Given the description of an element on the screen output the (x, y) to click on. 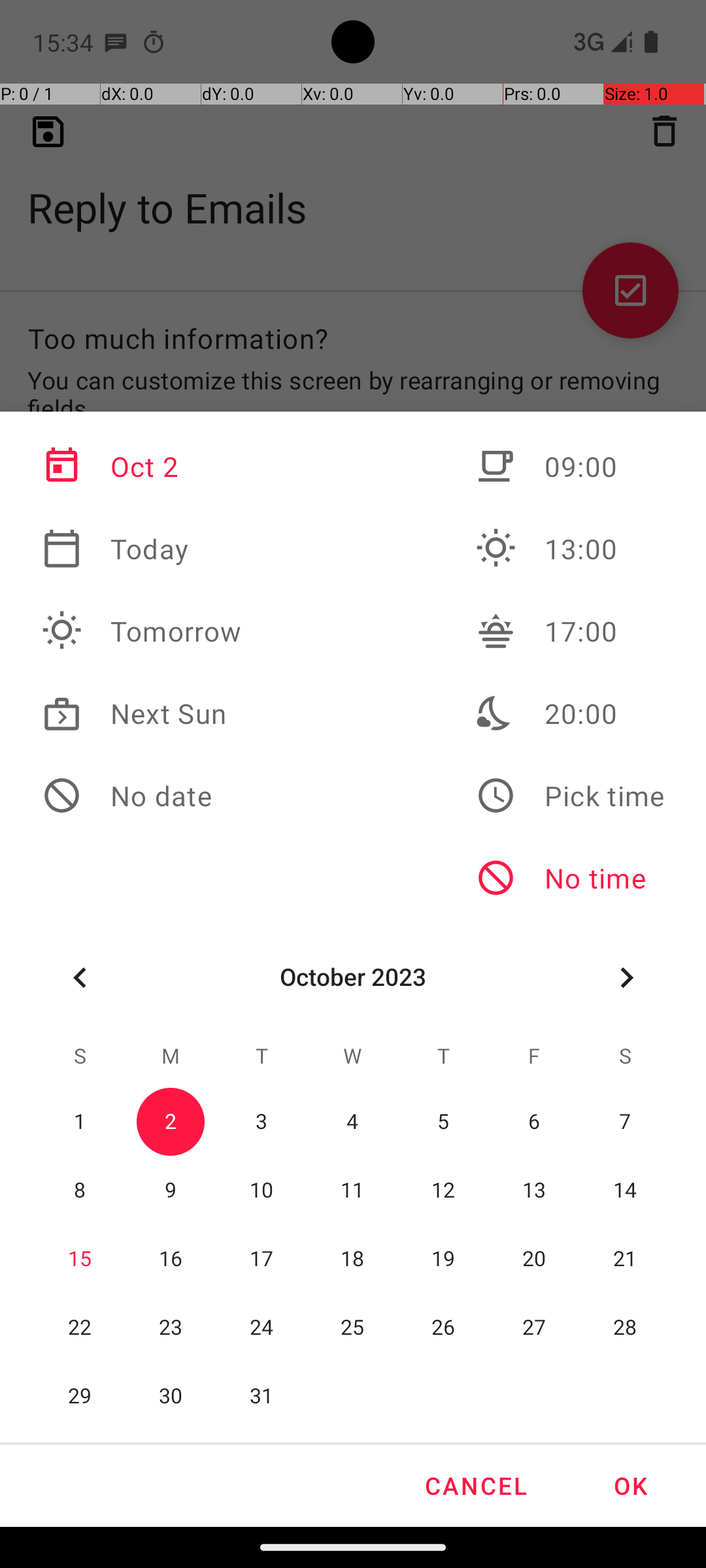
Oct 2 Element type: android.widget.CompoundButton (141, 466)
